Given the description of an element on the screen output the (x, y) to click on. 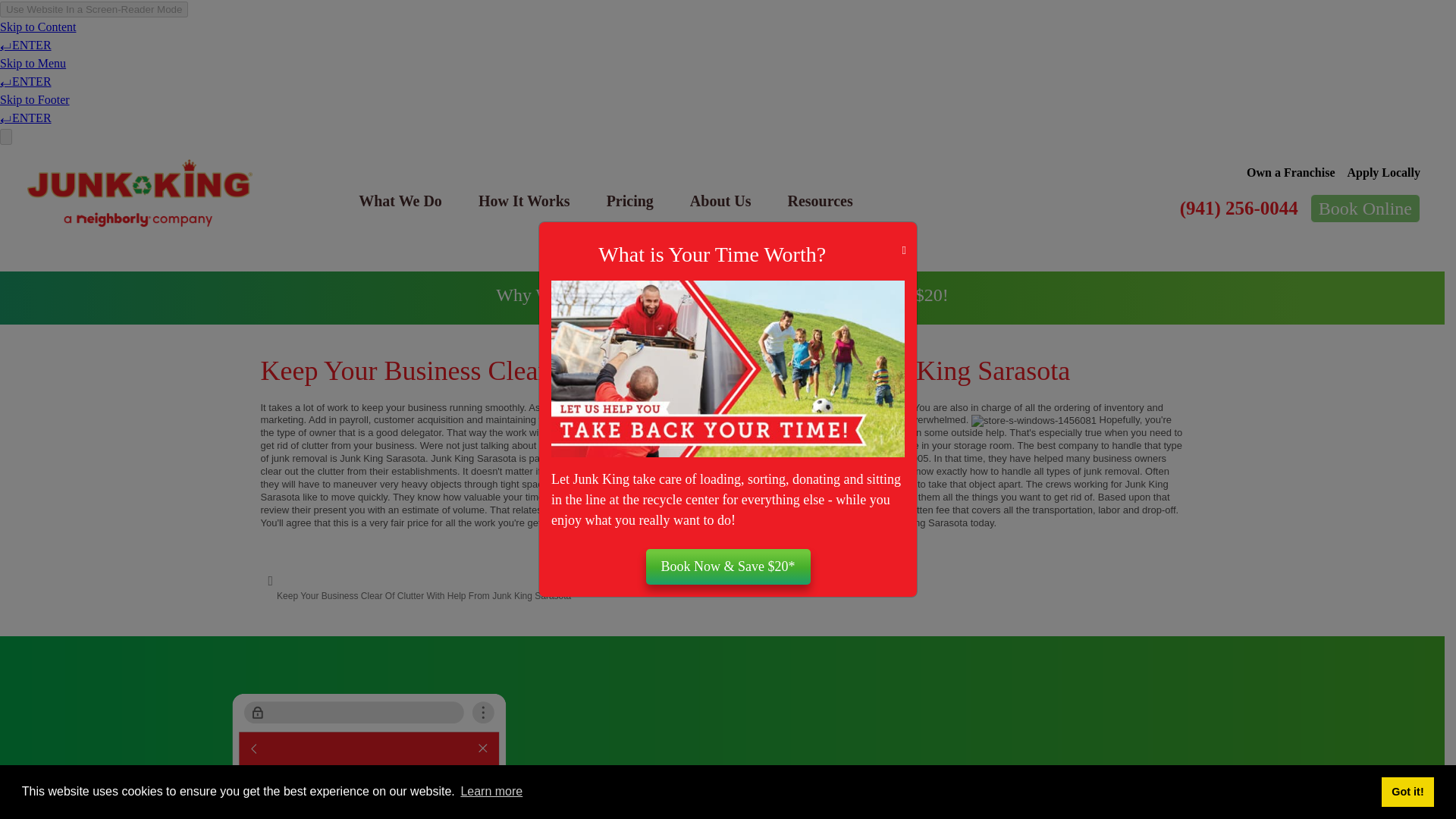
Got it! (1407, 791)
Resources (819, 200)
Pricing (629, 200)
Book Online (1365, 208)
Image (727, 368)
Banner Pane (721, 297)
How It Works (524, 200)
Apply Locally (1384, 172)
About Us (720, 200)
Junk King (139, 192)
Learn more (491, 791)
Own a Franchise (1290, 172)
phone (368, 756)
